Given the description of an element on the screen output the (x, y) to click on. 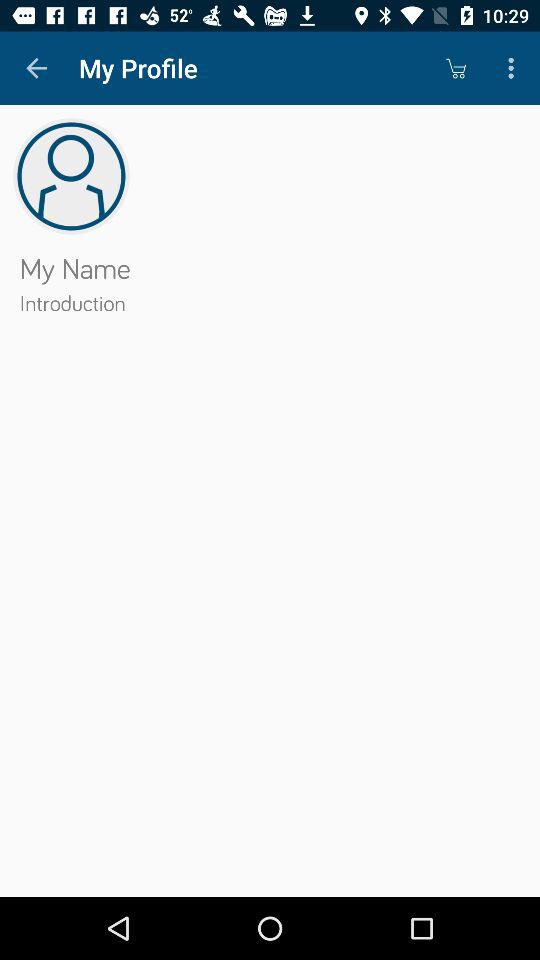
press icon to the right of my profile (455, 67)
